Given the description of an element on the screen output the (x, y) to click on. 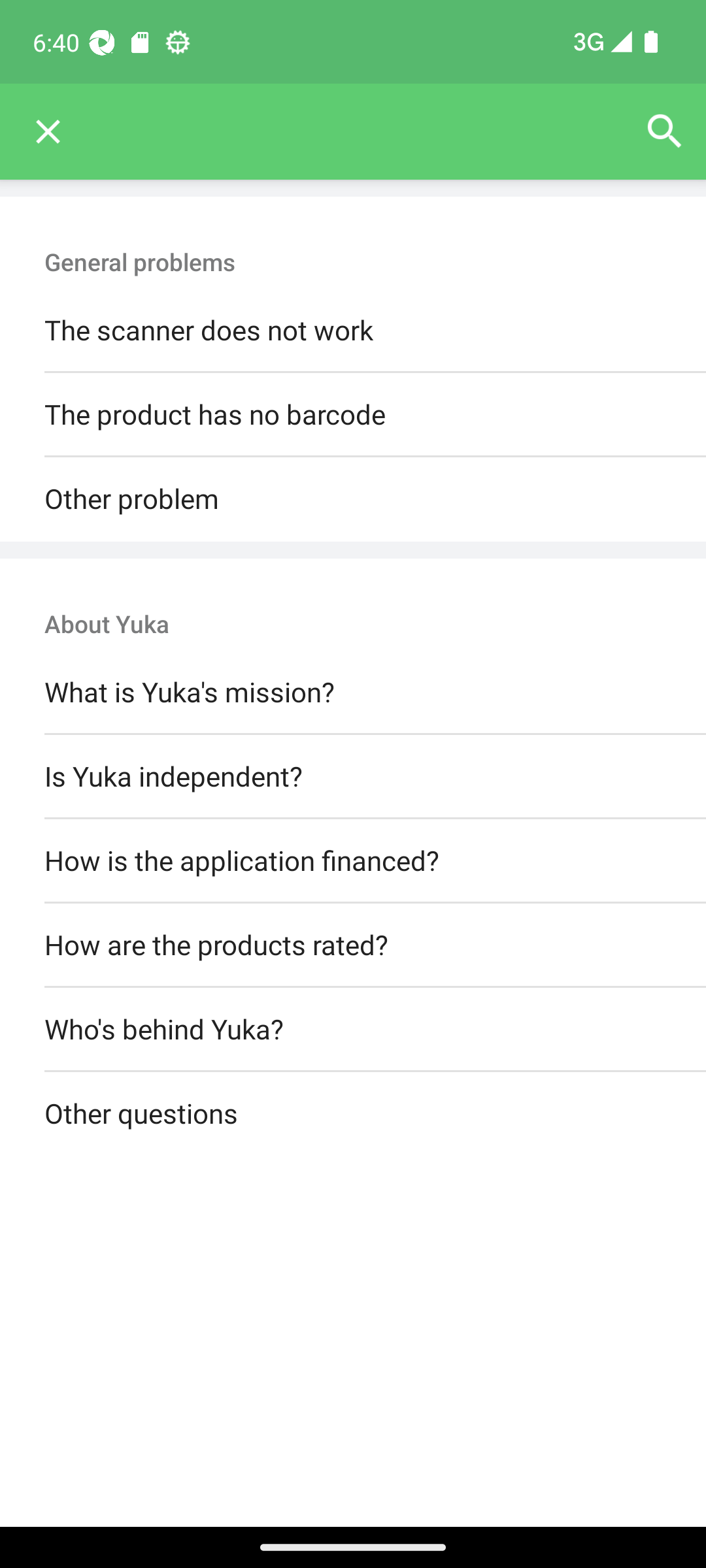
Search (664, 131)
The scanner does not work (353, 330)
The product has no barcode (353, 415)
Other problem (353, 498)
What is Yuka's mission? (353, 692)
Is Yuka independent? (353, 776)
How is the application financed? (353, 860)
How are the products rated? (353, 945)
Who's behind Yuka? (353, 1029)
Other questions (353, 1114)
